Given the description of an element on the screen output the (x, y) to click on. 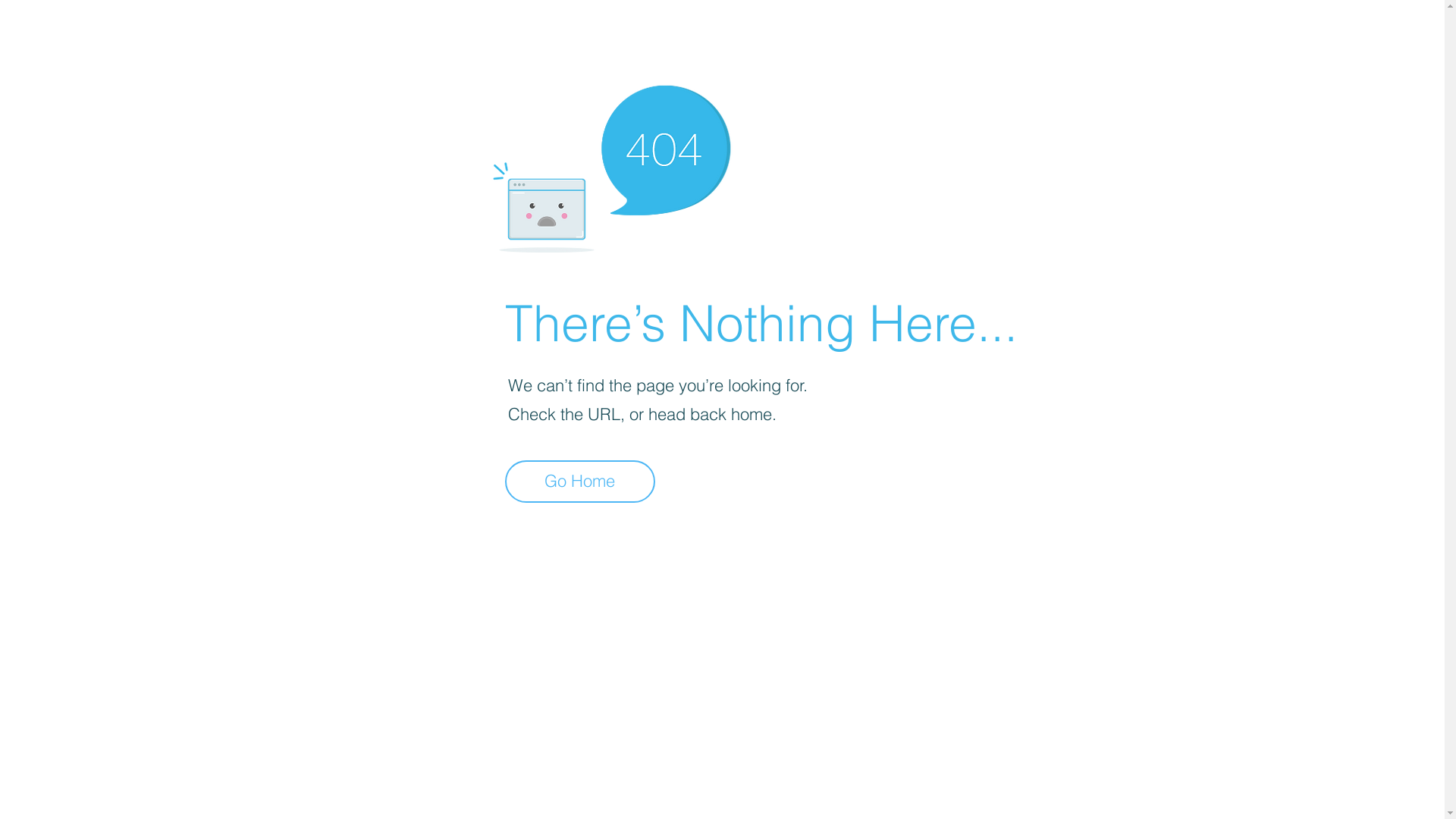
404-icon_2.png Element type: hover (610, 164)
Go Home Element type: text (580, 481)
